Given the description of an element on the screen output the (x, y) to click on. 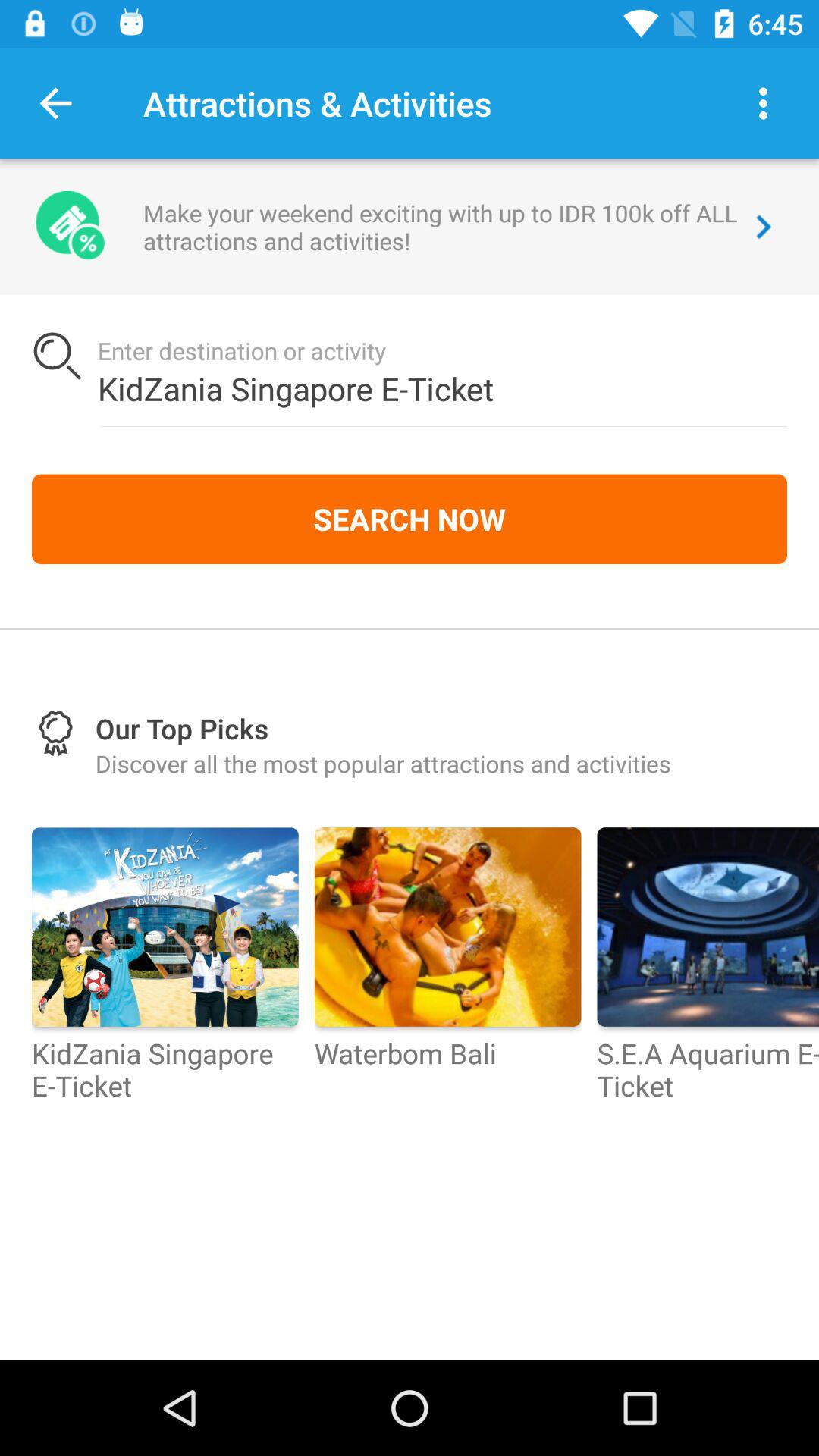
click to option (763, 103)
